Given the description of an element on the screen output the (x, y) to click on. 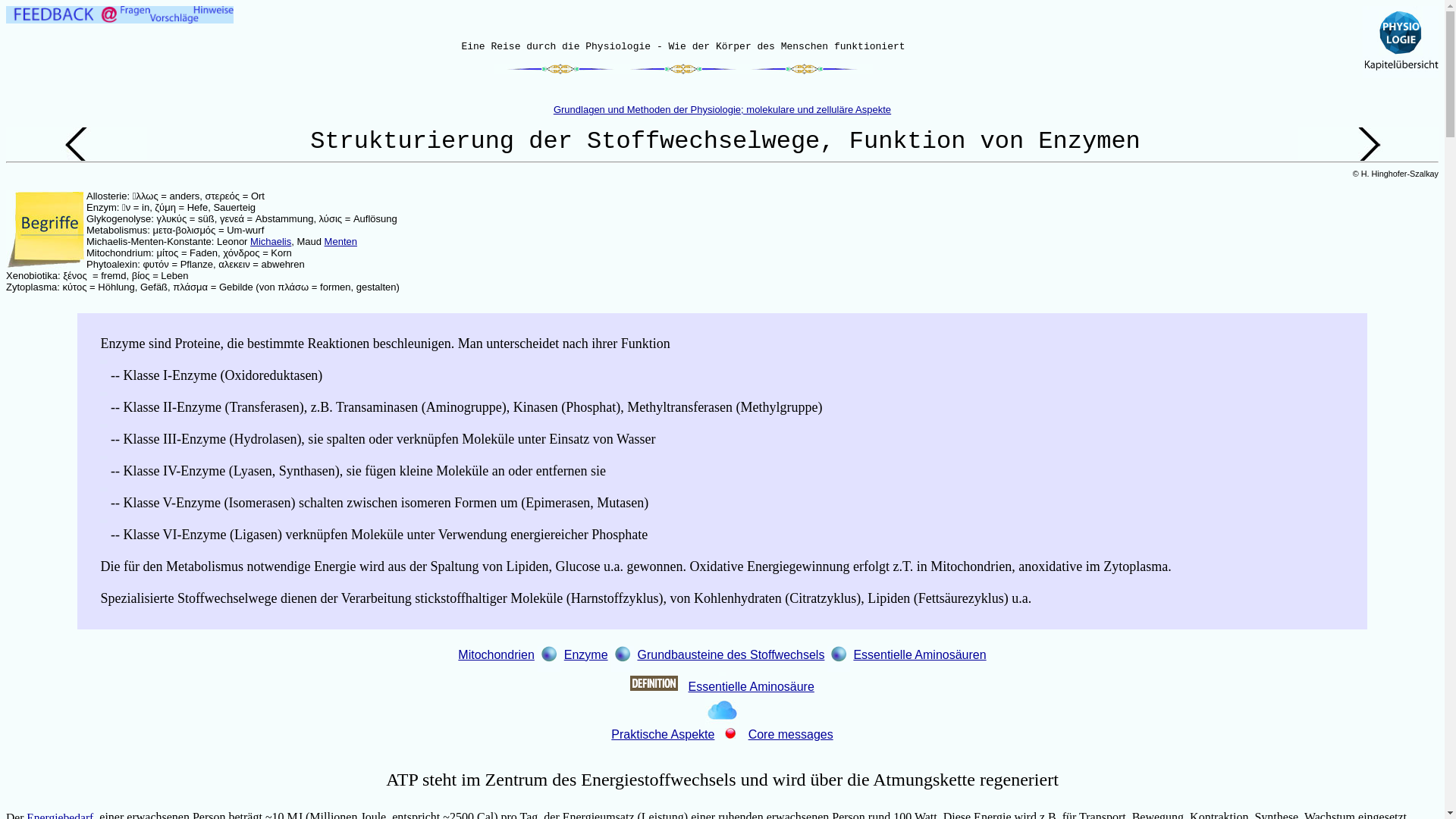
Menten Element type: text (340, 241)
Core messages Element type: text (790, 734)
Mitochondrien Element type: text (496, 654)
Grundbausteine des Stoffwechsels Element type: text (730, 654)
Praktische Aspekte Element type: text (662, 734)
Michaelis Element type: text (270, 241)
Enzyme Element type: text (586, 654)
